Given the description of an element on the screen output the (x, y) to click on. 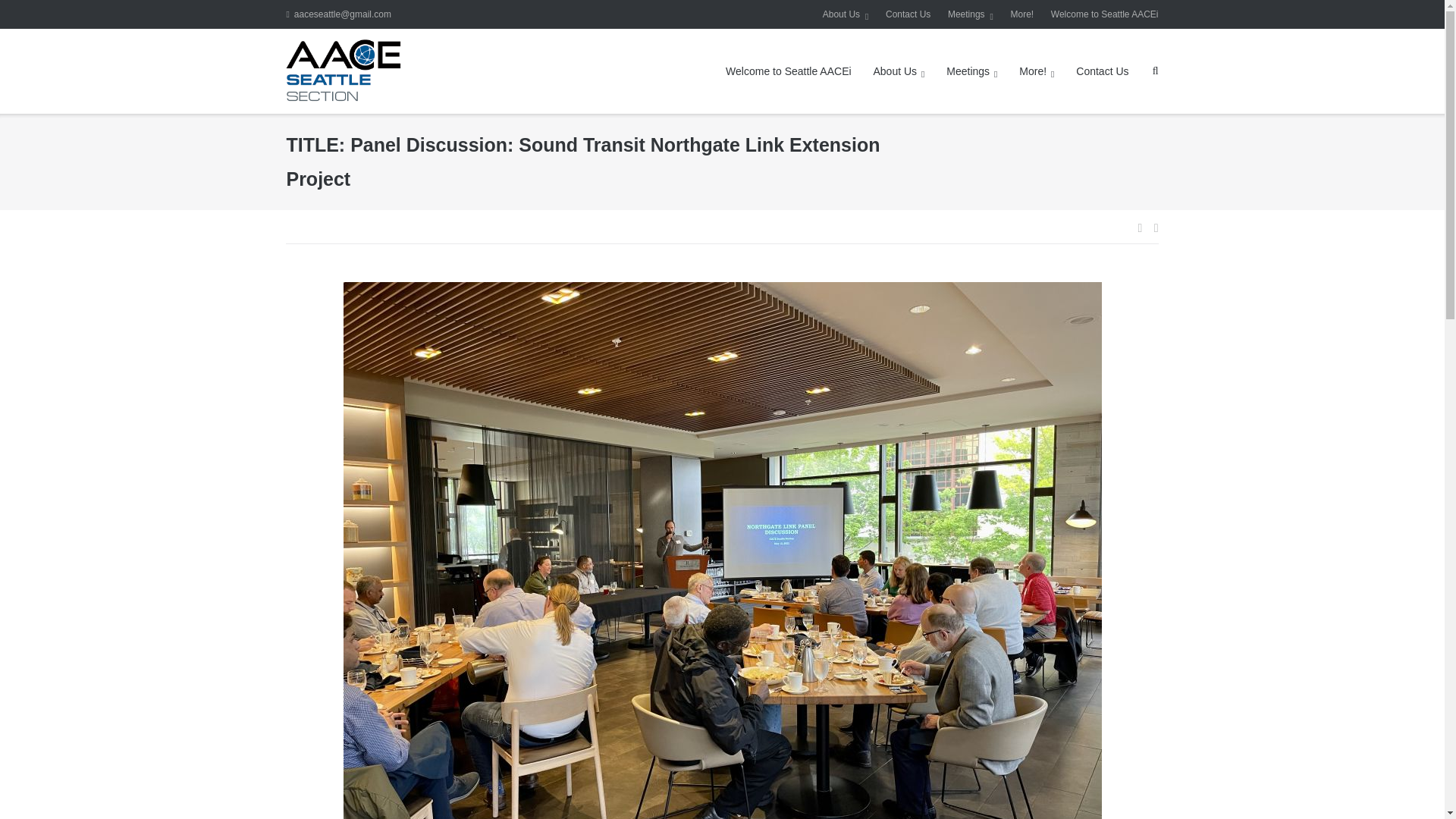
Welcome to Seattle AACEi (1104, 14)
About Us (845, 14)
Meetings (969, 14)
Welcome to Seattle AACEi (787, 70)
Contact Us (907, 14)
